Given the description of an element on the screen output the (x, y) to click on. 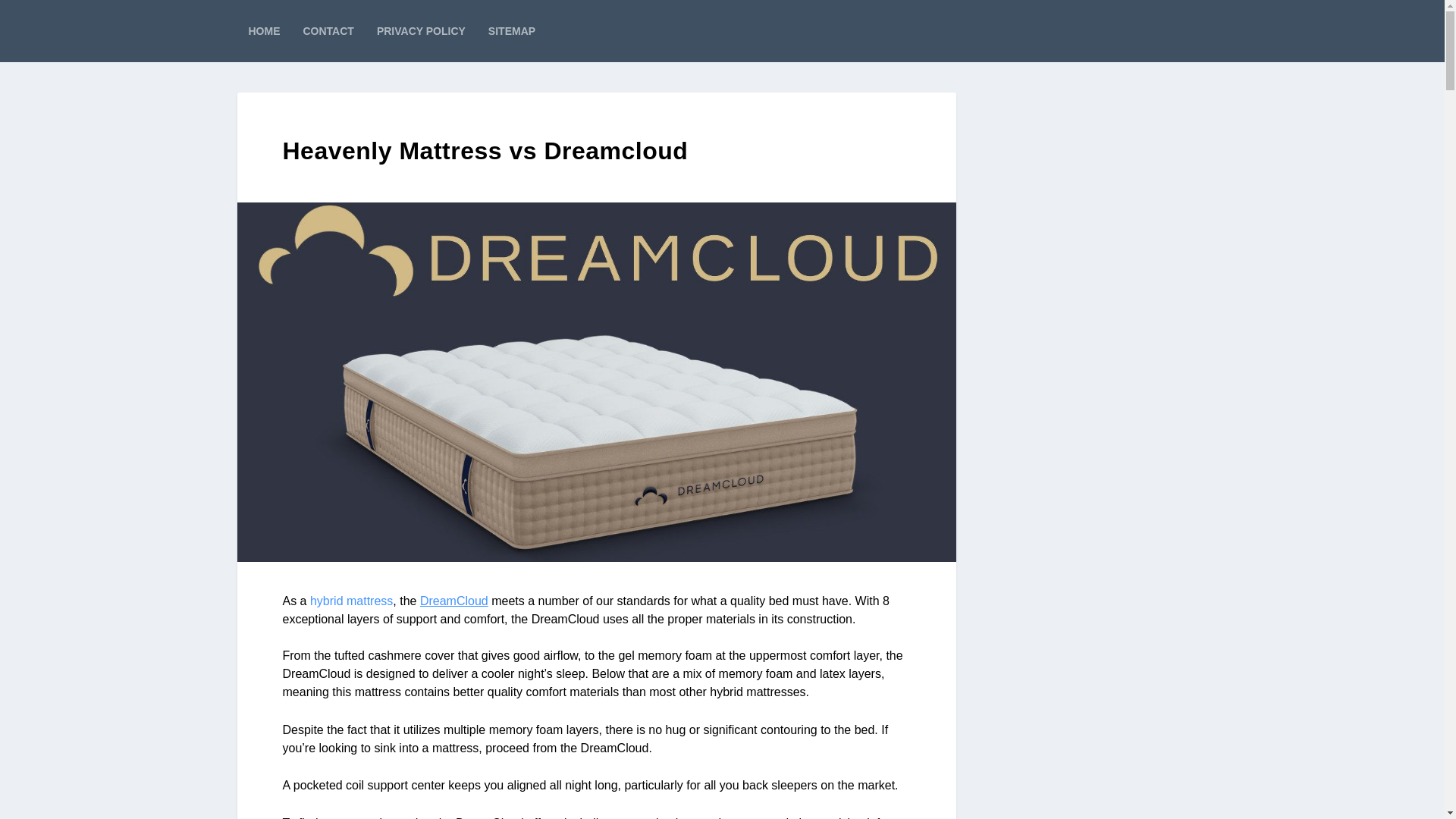
DreamCloud (453, 600)
PRIVACY POLICY (421, 31)
hybrid mattress (351, 600)
